Given the description of an element on the screen output the (x, y) to click on. 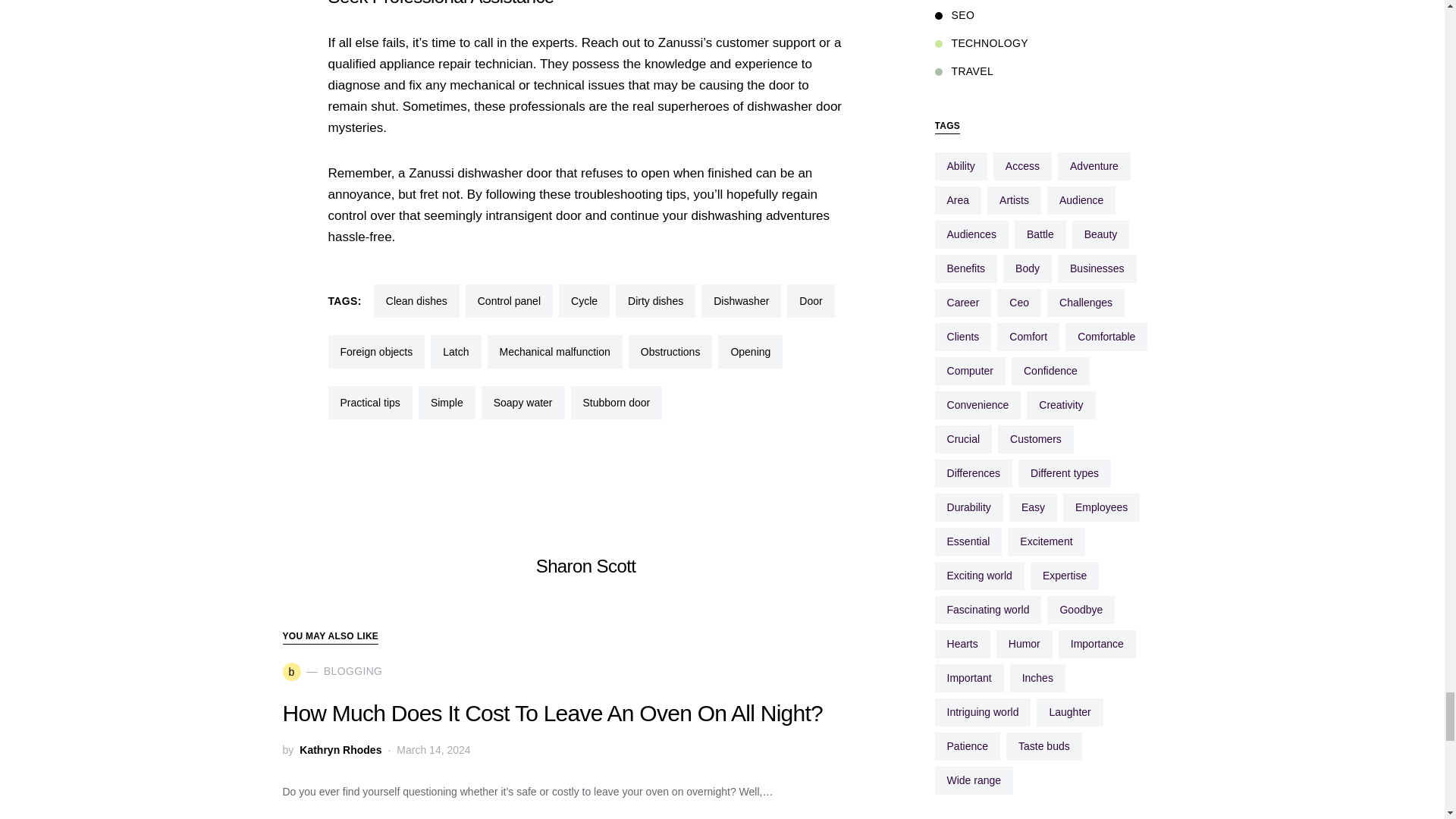
View all posts by Kathryn Rhodes (340, 749)
